Given the description of an element on the screen output the (x, y) to click on. 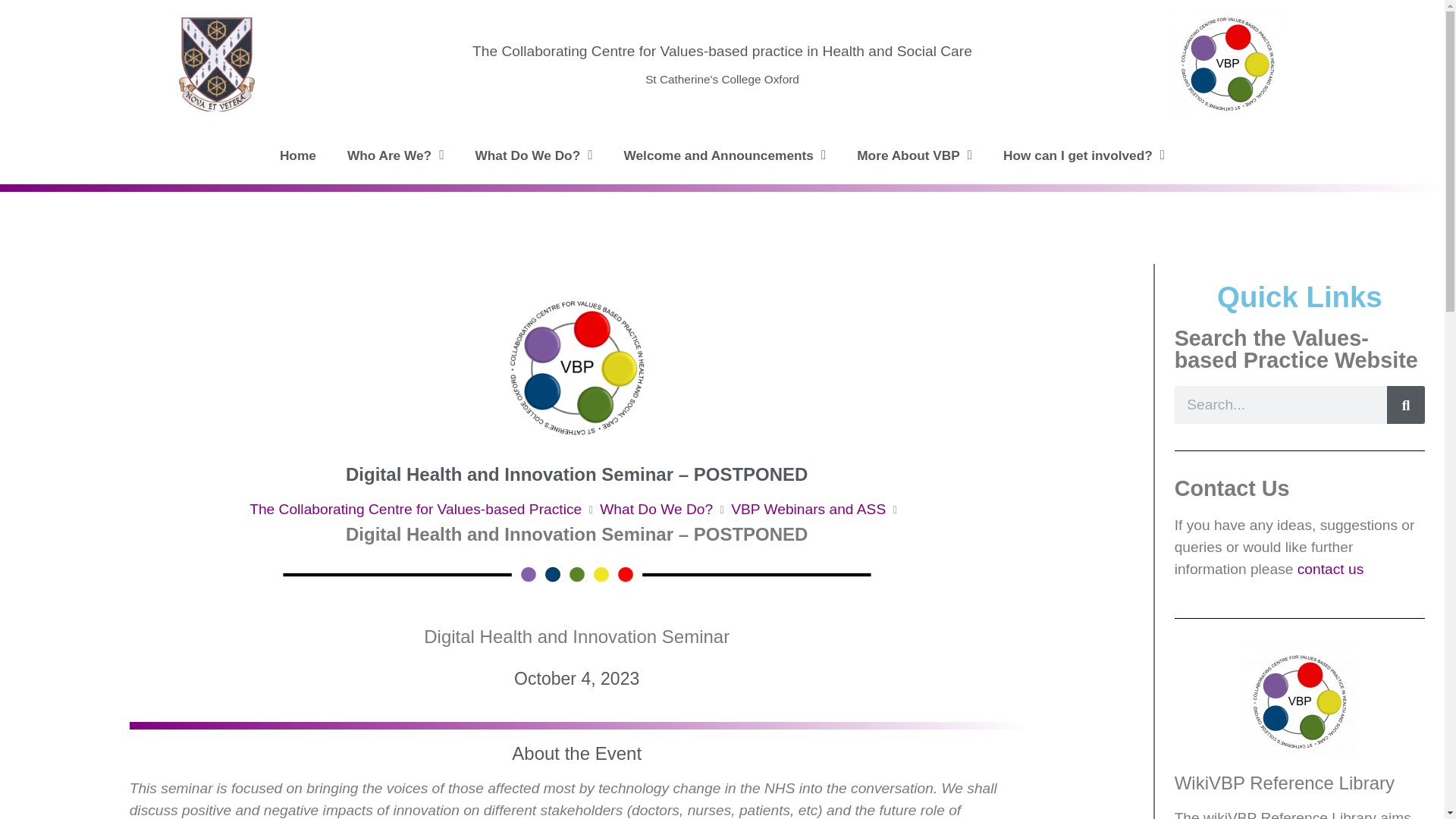
VBP Webinars and ASS (807, 509)
More About VBP (914, 155)
The Collaborating Centre for Values-based Practice (414, 509)
What Do We Do? (656, 509)
Home (297, 155)
What Do We Do? (533, 155)
Welcome and Announcements (724, 155)
Who Are We? (395, 155)
